Given the description of an element on the screen output the (x, y) to click on. 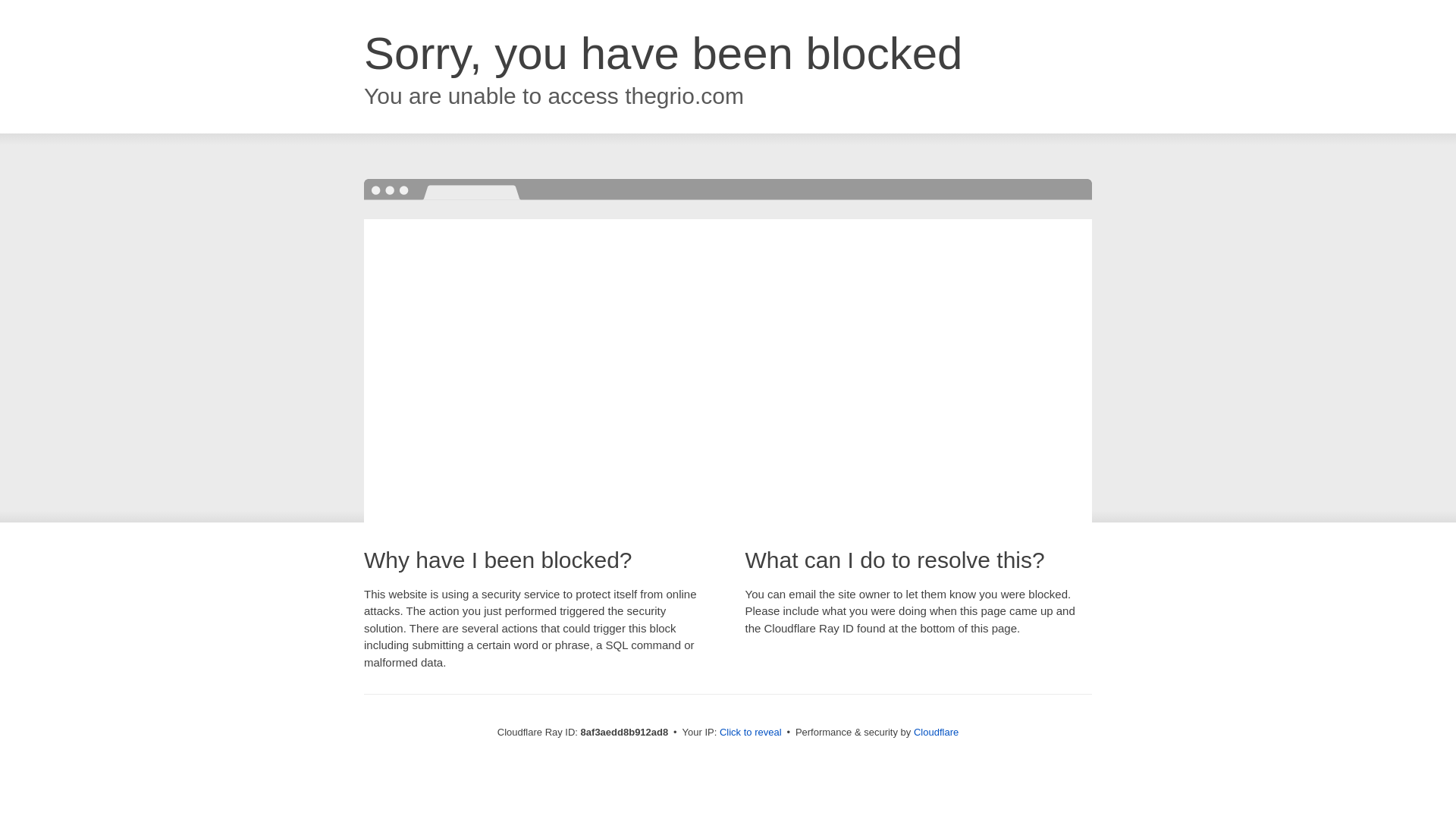
Click to reveal (750, 732)
Cloudflare (936, 731)
